Given the description of an element on the screen output the (x, y) to click on. 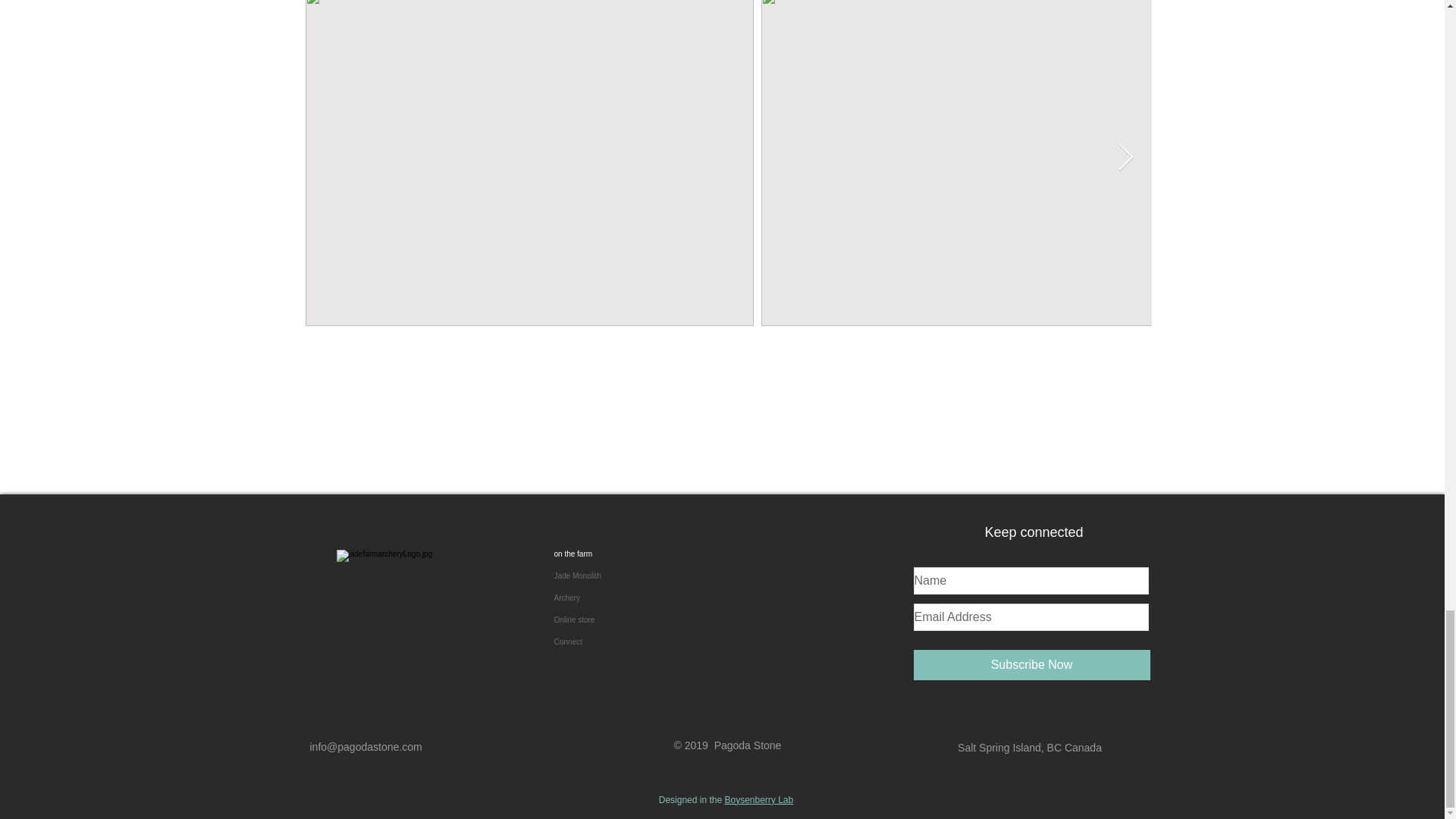
Online store (665, 619)
Jade Monolith (665, 576)
Archery (665, 598)
on the farm (665, 553)
